Given the description of an element on the screen output the (x, y) to click on. 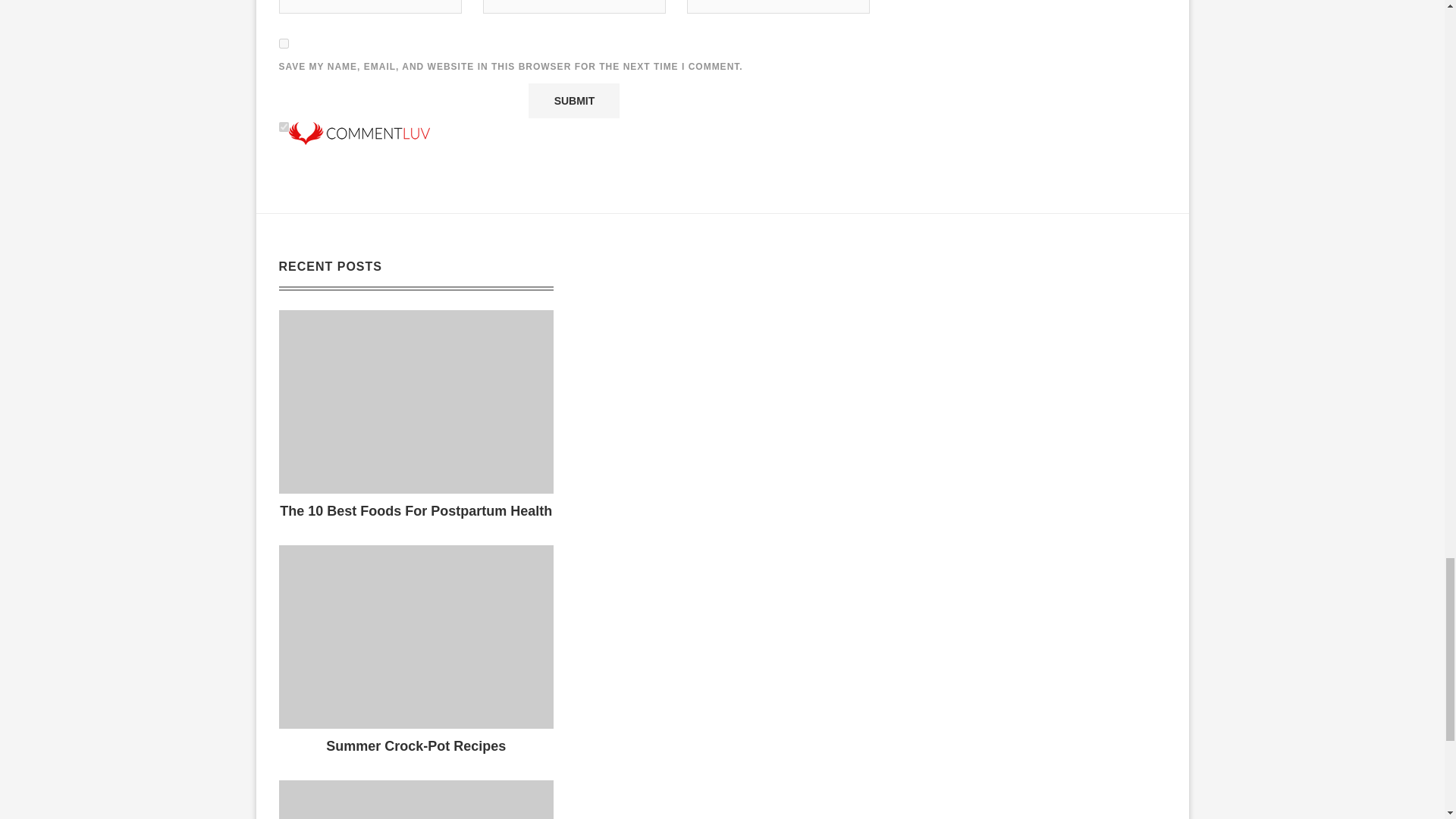
Submit (574, 100)
yes (283, 43)
on (283, 126)
CommentLuv is enabled (358, 128)
The 10 Best Foods For Postpartum Health (416, 401)
